Given the description of an element on the screen output the (x, y) to click on. 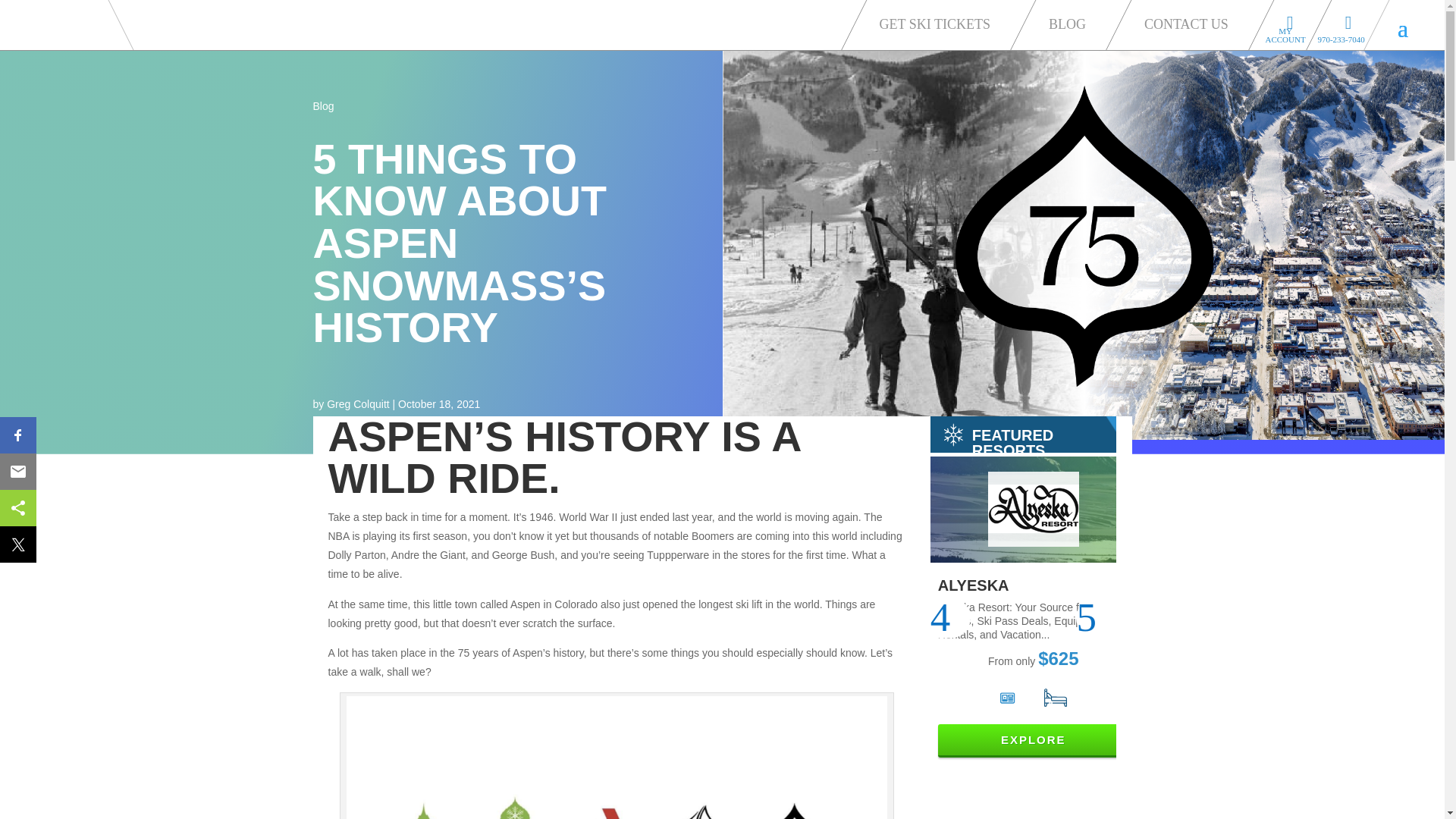
BLOG (1071, 22)
Blog (323, 105)
GET SKI TICKETS (938, 22)
CONTACT US (1190, 22)
EXPLORE (1033, 740)
